Given the description of an element on the screen output the (x, y) to click on. 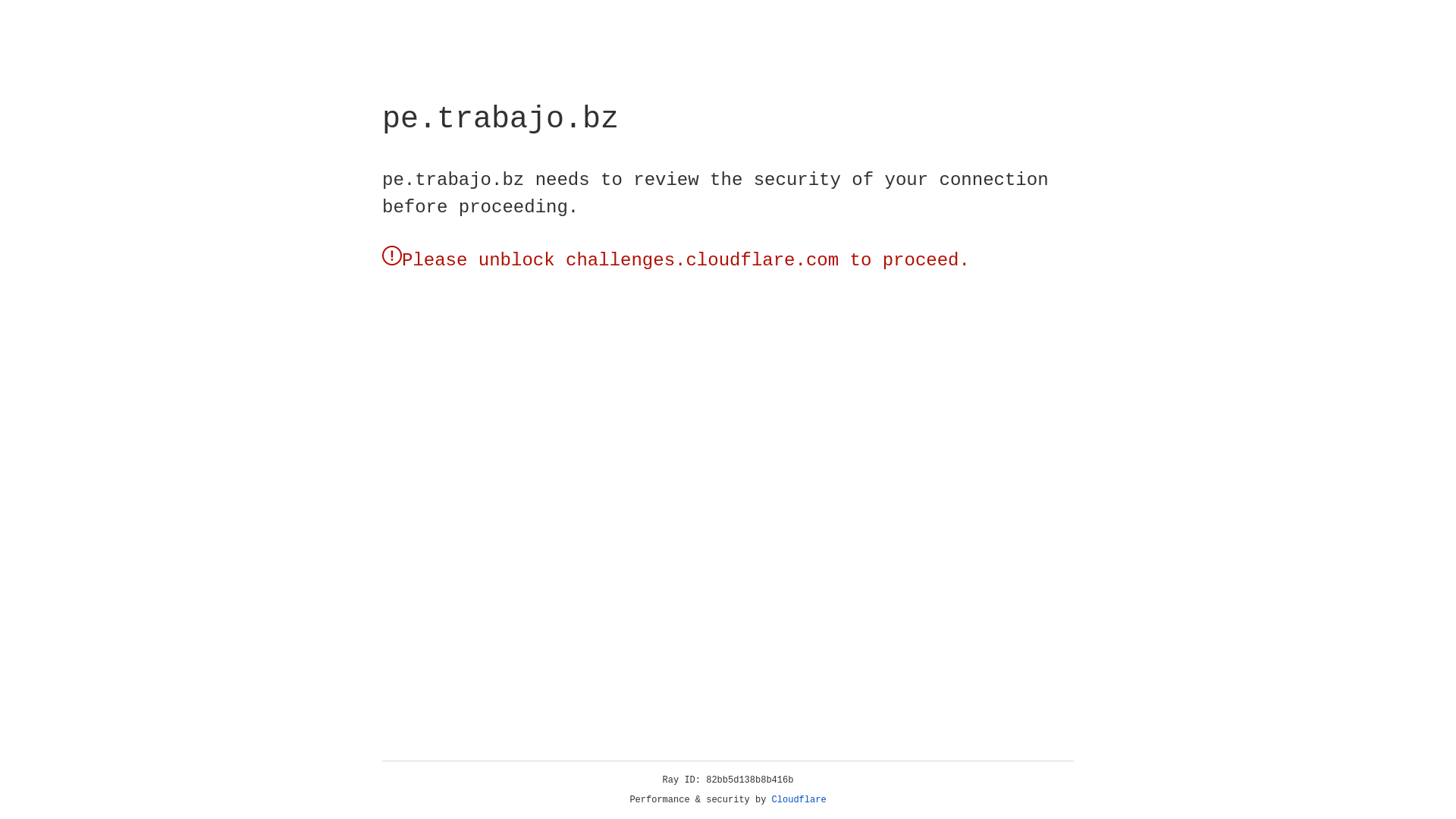
Cloudflare Element type: text (798, 799)
